Given the description of an element on the screen output the (x, y) to click on. 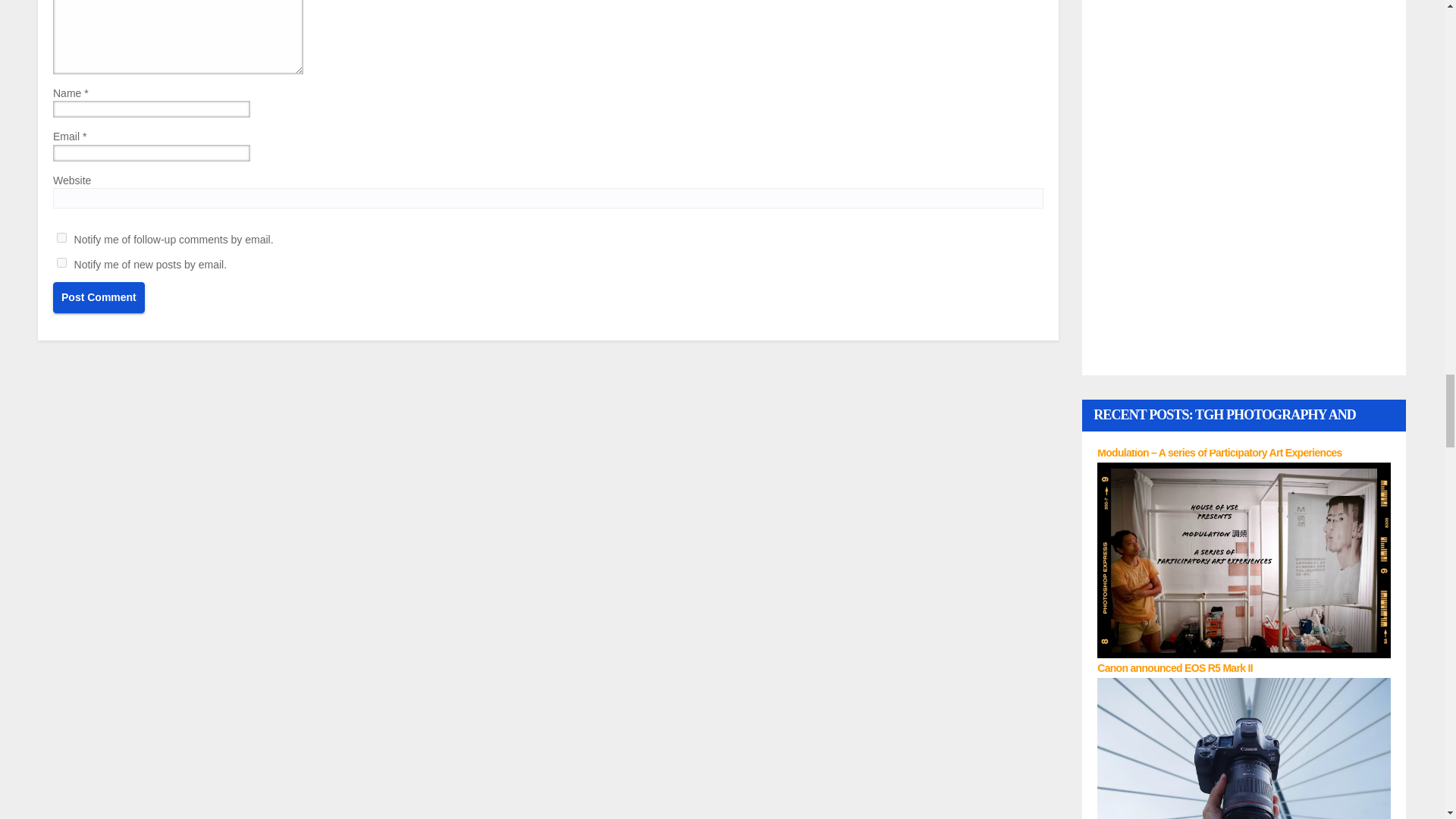
Post Comment (98, 296)
